Given the description of an element on the screen output the (x, y) to click on. 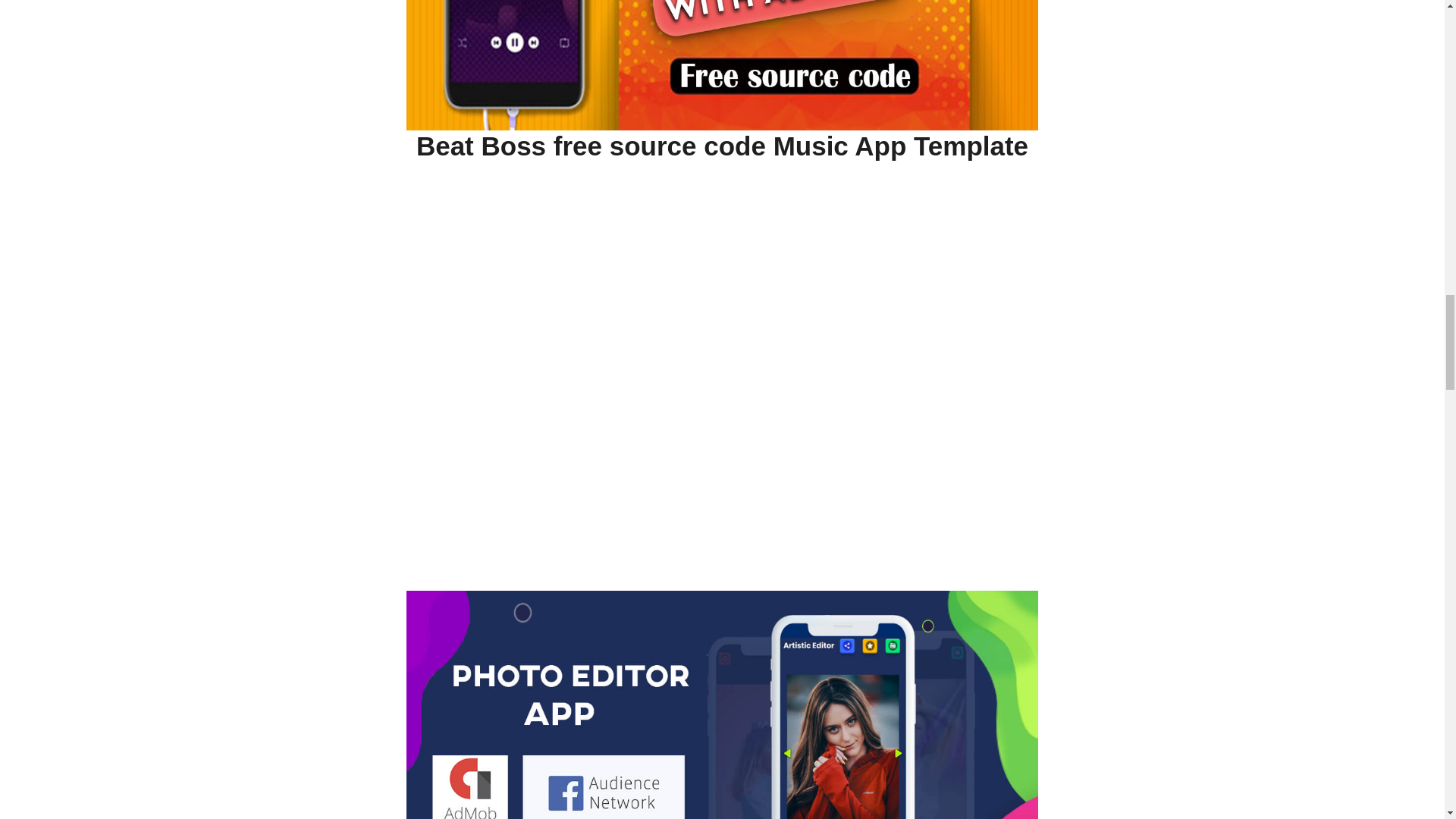
Beat Boss free source code Music App Template (721, 146)
